Given the description of an element on the screen output the (x, y) to click on. 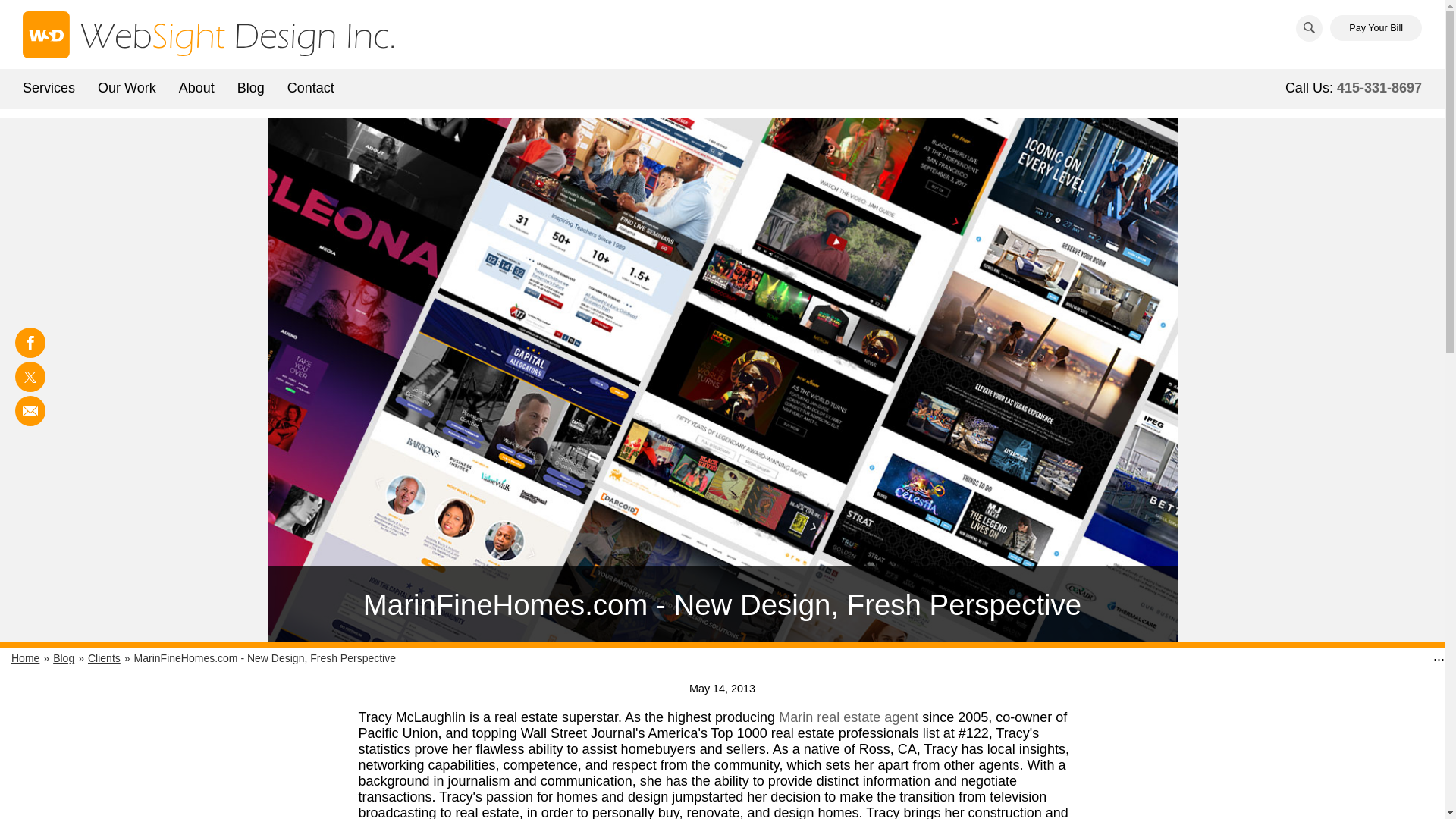
Opens in a new window (848, 717)
Tweet - Opens in a new window (29, 376)
WebSight Design Logo (208, 34)
Contact (311, 86)
Blog (63, 657)
Blog (250, 86)
About (196, 86)
Marin real estate agent (848, 717)
415-331-8697 (1379, 87)
Clients (103, 657)
Services (48, 86)
Our Work (126, 86)
Email to a Friend (29, 410)
Home (25, 657)
Pay Your Bill (1376, 27)
